Given the description of an element on the screen output the (x, y) to click on. 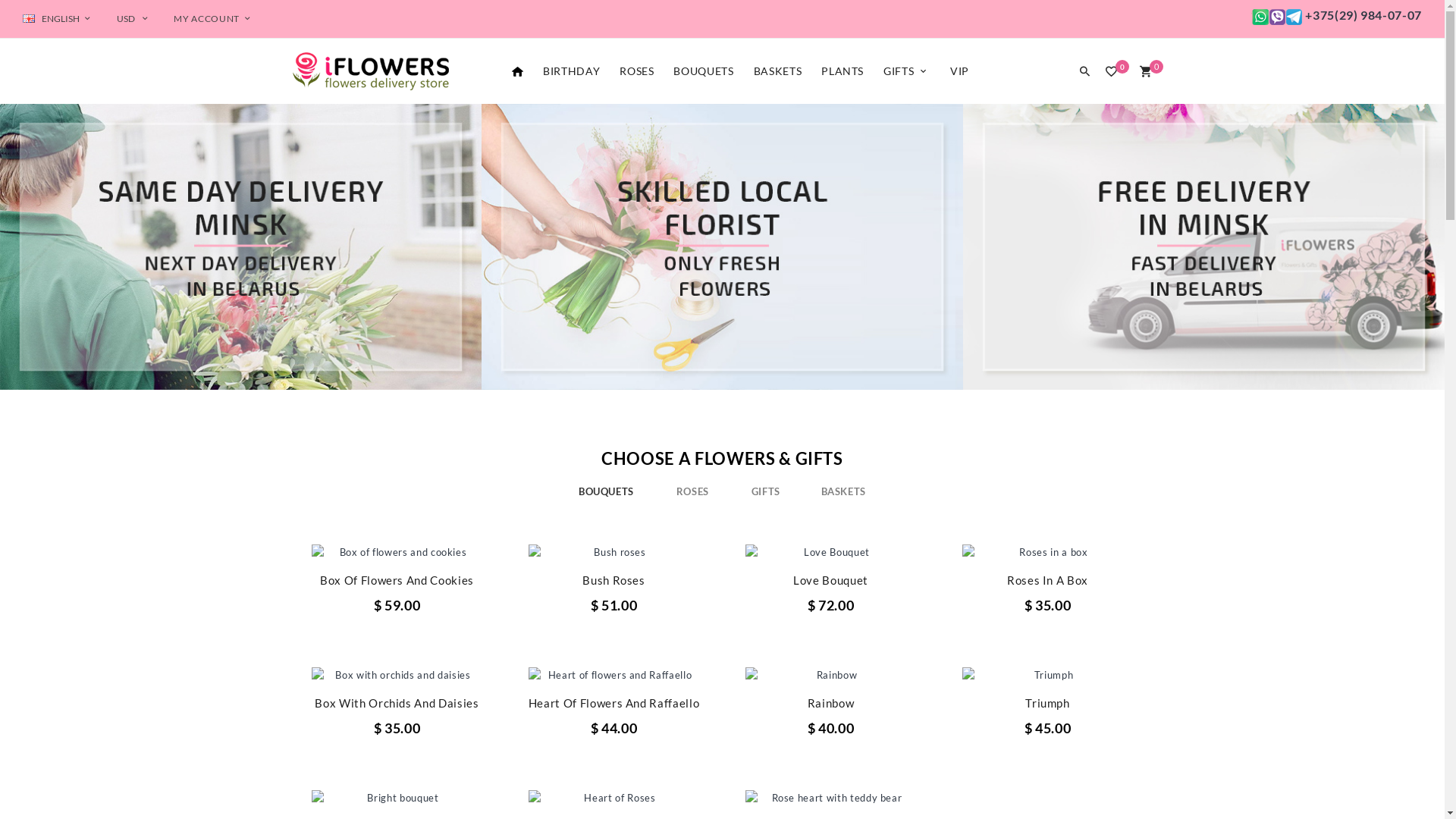
Bouquet Romance Element type: hover (830, 797)
Bush roses Element type: hover (1216, 551)
ROSES Element type: text (692, 491)
Bouquet of spray roses Element type: hover (613, 797)
Heart Of Flowers And Raffaello Element type: text (397, 702)
Flower delivery Minsk and Belarus - iFlowers.by Element type: hover (368, 71)
Bouquet of white roses Element type: hover (830, 674)
USD Element type: text (133, 18)
0 Element type: text (1114, 73)
ROSES Element type: text (636, 70)
BIRTHDAY Element type: text (571, 70)
BOUQUETS Element type: text (605, 491)
Rainbow Element type: text (613, 702)
BOUQUETS Element type: text (703, 70)
Bright bouquet Element type: hover (1036, 797)
Triumph Element type: text (830, 702)
BASKETS Element type: text (843, 491)
Love Bouquet Element type: text (613, 579)
ENGLISH Element type: text (58, 18)
GIFTS Element type: text (765, 491)
Roses In A Box Element type: text (830, 579)
Bouquet bright pink Element type: hover (396, 674)
bouquet of triumph Element type: hover (830, 551)
0 Element type: text (1145, 72)
BASKETS Element type: text (777, 70)
 +375(29) 984-07-07 Element type: text (1336, 15)
Bouquet Bright day Element type: hover (396, 551)
Heart of Roses Element type: hover (1121, 797)
Heart of flowers and Raffaello Element type: hover (1159, 674)
PLANTS Element type: text (842, 70)
English Element type: hover (28, 18)
Box of flowers and cookies Element type: hover (1046, 551)
Bouquet Of Red Roses Element type: text (1047, 736)
Bouquet of inspiration Element type: hover (613, 674)
Bush Roses Element type: text (396, 579)
GIFTS Element type: text (906, 70)
Box with orchids and daisies Element type: hover (1046, 674)
Bouquet joy Element type: hover (613, 551)
VIP Element type: text (959, 70)
